Given the description of an element on the screen output the (x, y) to click on. 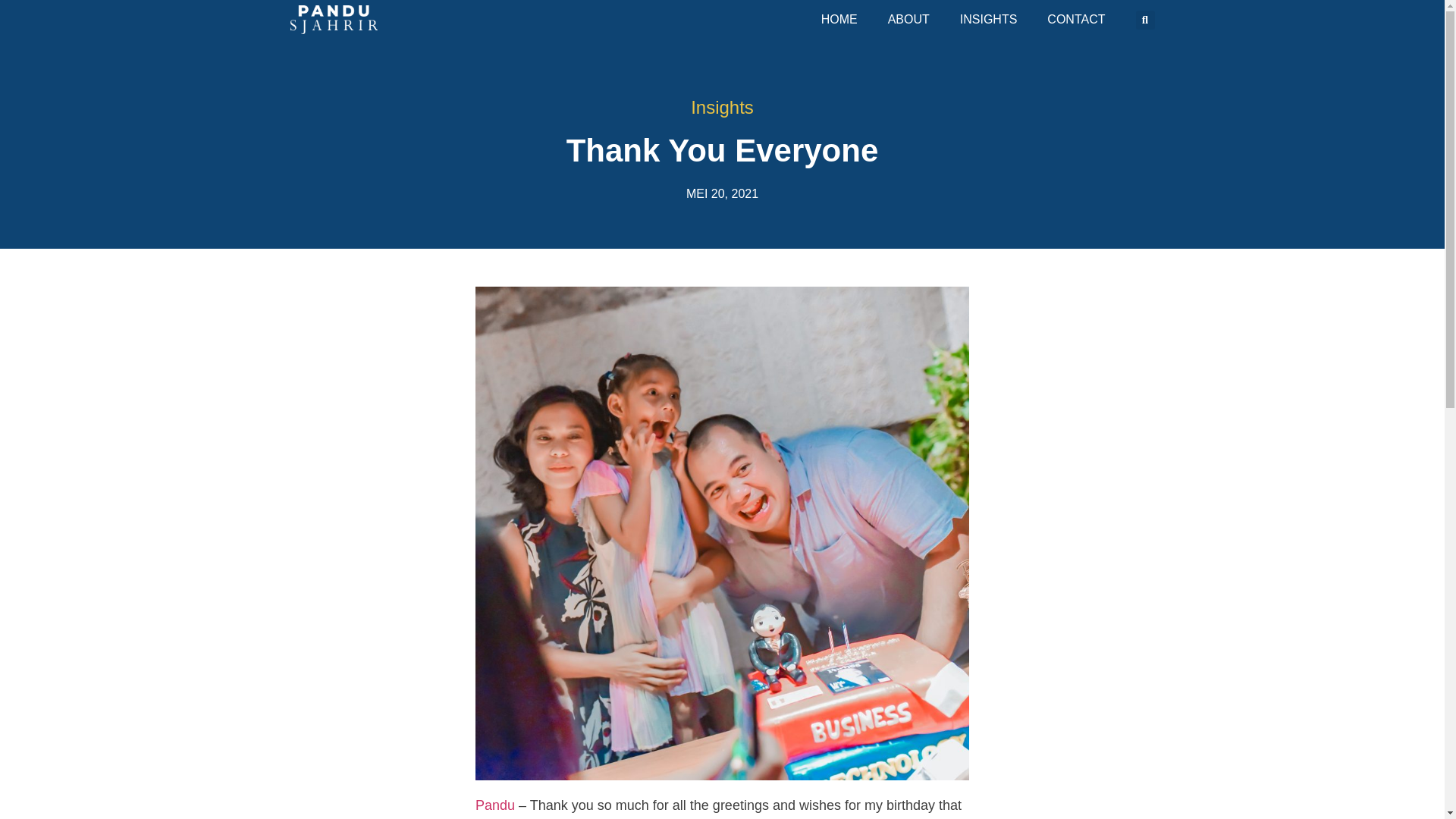
ABOUT (908, 19)
HOME (839, 19)
Pandu (495, 805)
INSIGHTS (988, 19)
MEI 20, 2021 (721, 194)
CONTACT (1075, 19)
